Given the description of an element on the screen output the (x, y) to click on. 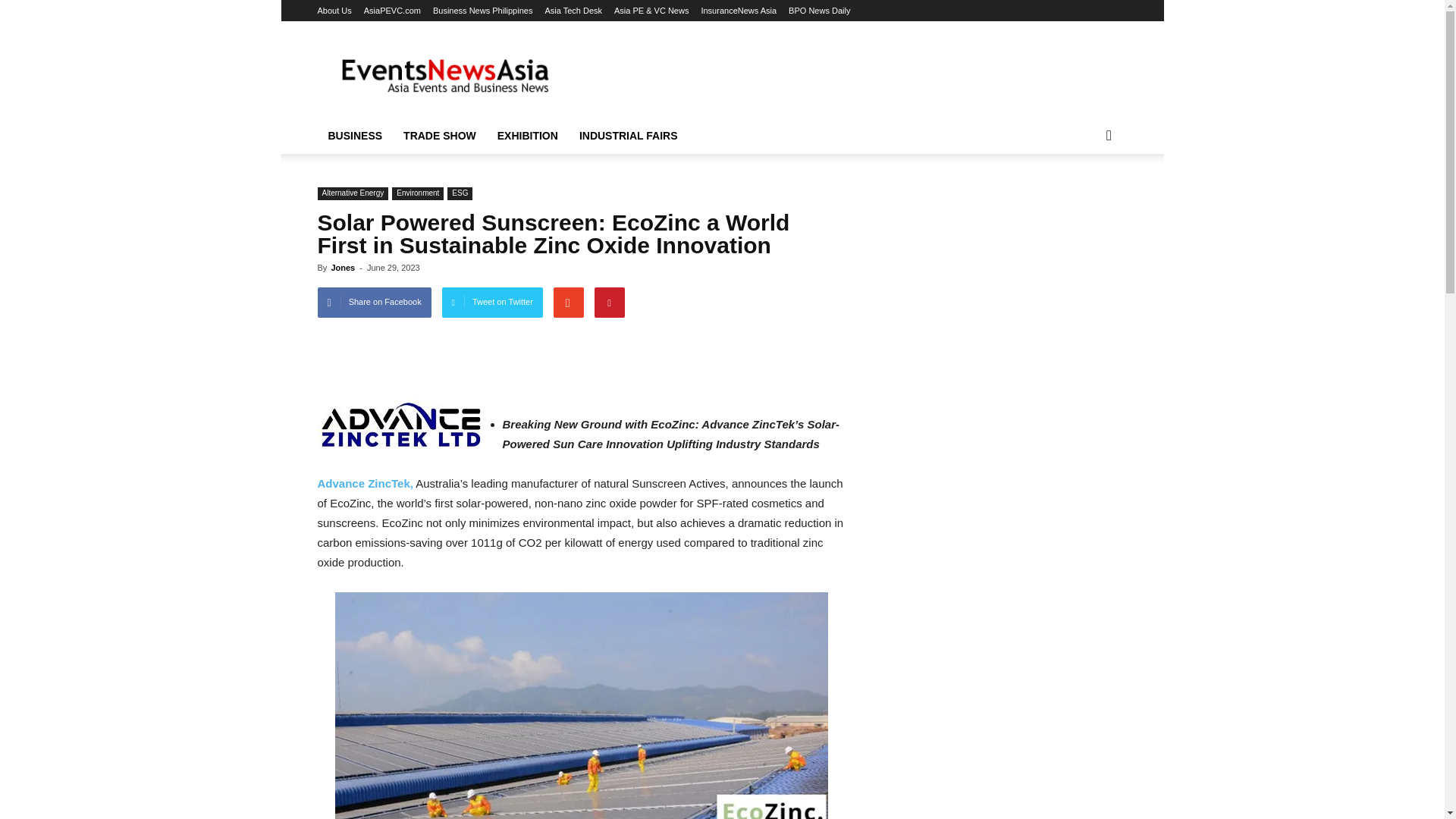
Advance ZincTek, (364, 482)
INDUSTRIAL FAIRS (628, 135)
BUSINESS (355, 135)
About Us (333, 10)
TRADE SHOW (439, 135)
Environment (417, 193)
Advertisement (850, 76)
AsiaPEVC.com (392, 10)
ESG (458, 193)
Tweet on Twitter (492, 302)
